Given the description of an element on the screen output the (x, y) to click on. 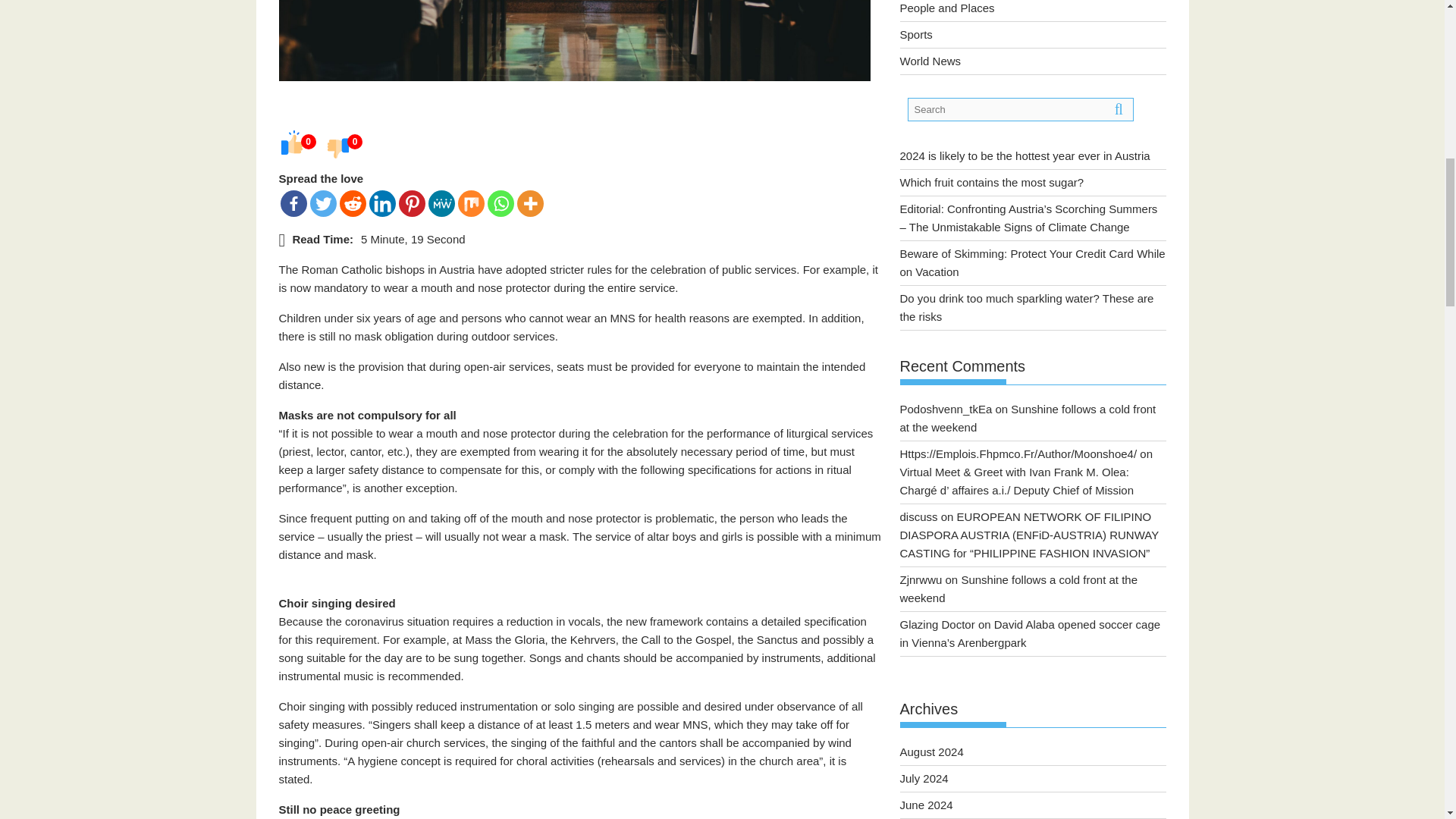
MeWe (441, 203)
Mix (471, 203)
Reddit (352, 203)
Pinterest (411, 203)
Twitter (322, 203)
Linkedin (381, 203)
Facebook (294, 203)
